Given the description of an element on the screen output the (x, y) to click on. 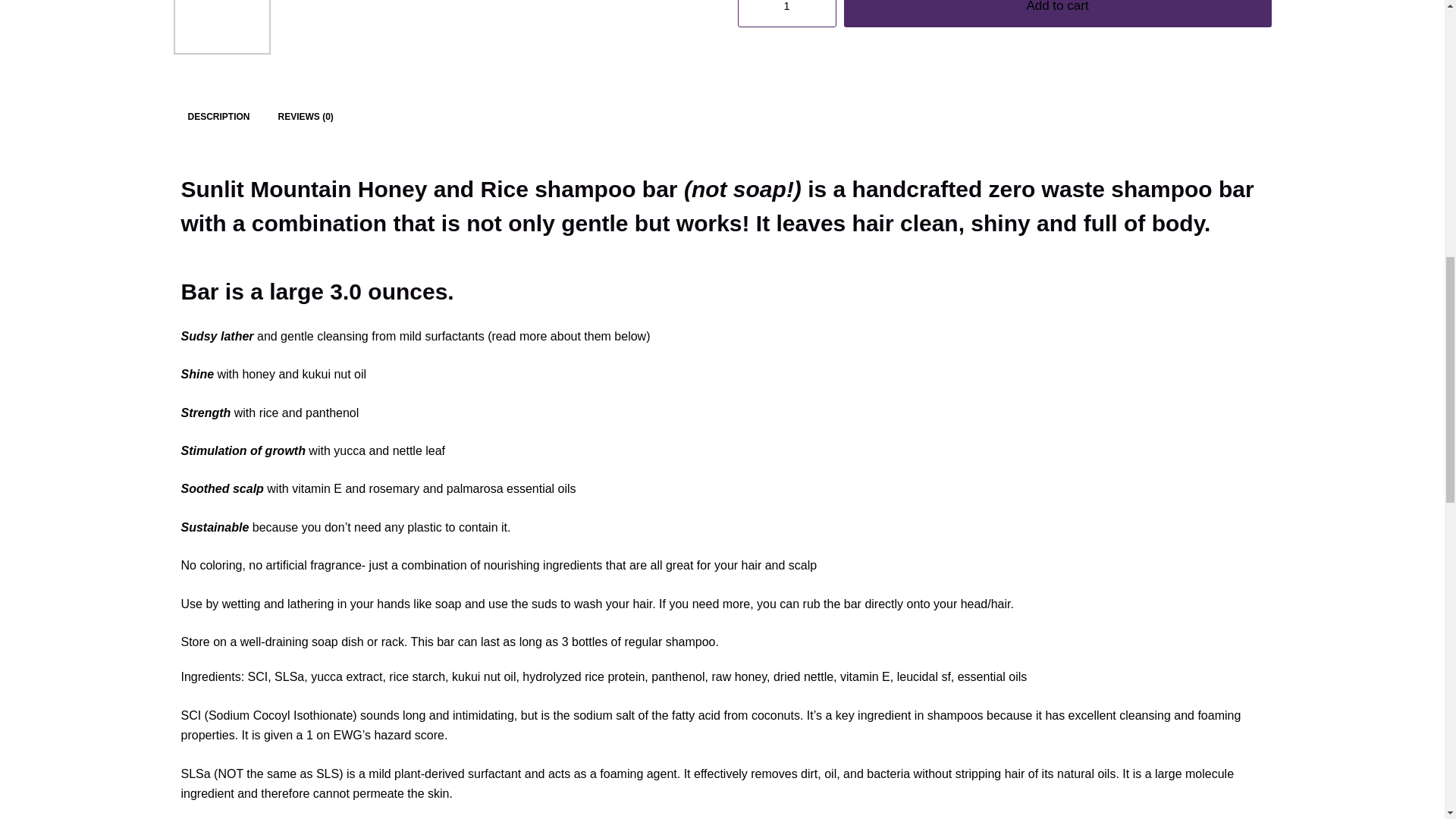
bare shampoo with props resized (440, 27)
shampoo bar with props resized (331, 27)
hex shampoo bar resized - white background (658, 27)
shampoo bar in hand resized (549, 27)
zero waste shampoo bar (221, 27)
